Given the description of an element on the screen output the (x, y) to click on. 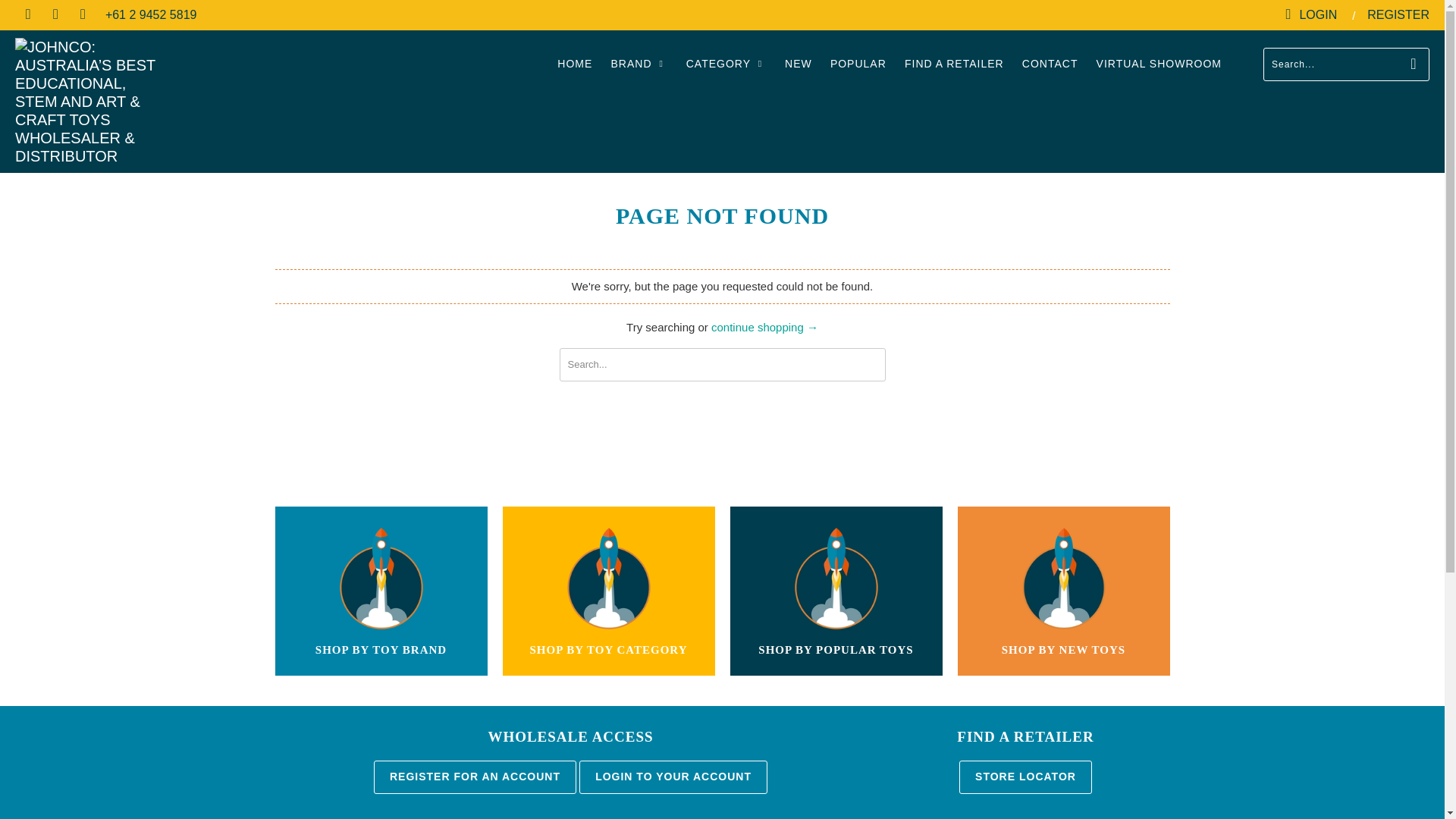
Johnco on Instagram (82, 14)
My Account  (1309, 15)
Johnco on Facebook (26, 14)
Johnco on YouTube (54, 14)
Johnco (122, 101)
